Given the description of an element on the screen output the (x, y) to click on. 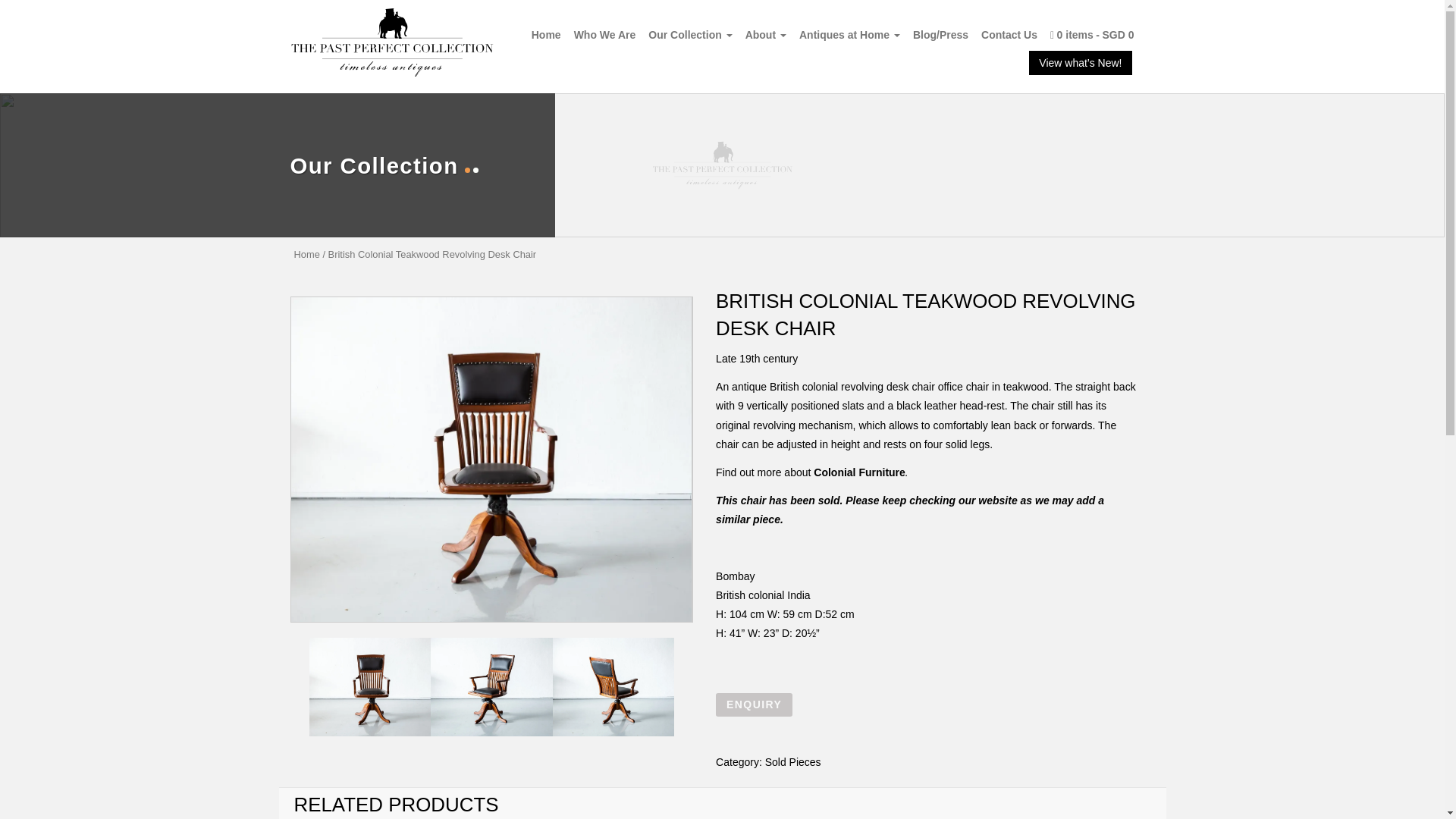
0 itemsSGD 0 (1091, 34)
Colonial Furniture (859, 472)
Who We Are (604, 34)
Home (546, 34)
Contact Us (1009, 34)
Our Collection (690, 34)
Sold Pieces (793, 761)
ENQUIRY (754, 704)
Our Collection (690, 34)
Antiques at Home (849, 34)
